Given the description of an element on the screen output the (x, y) to click on. 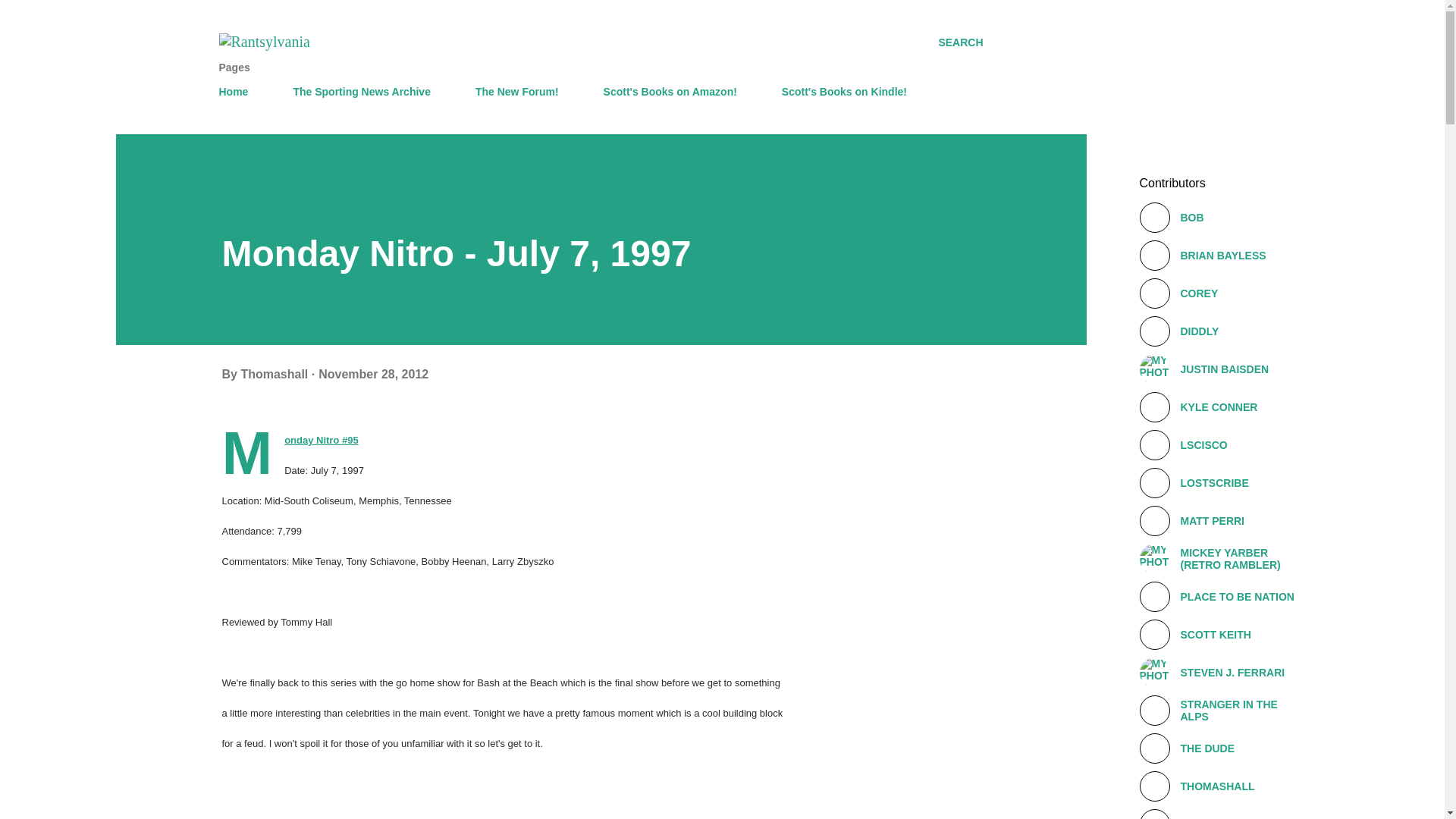
permanent link (373, 373)
Thomashall (275, 373)
Scott's Books on Amazon! (669, 91)
The New Forum! (516, 91)
author profile (275, 373)
COREY (1221, 293)
SEARCH (959, 42)
November 28, 2012 (373, 373)
The Sporting News Archive (361, 91)
Scott's Books on Kindle! (844, 91)
BOB (1221, 217)
DIDDLY (1221, 331)
Home (237, 91)
JUSTIN BAISDEN (1221, 368)
BRIAN BAYLESS (1221, 255)
